Given the description of an element on the screen output the (x, y) to click on. 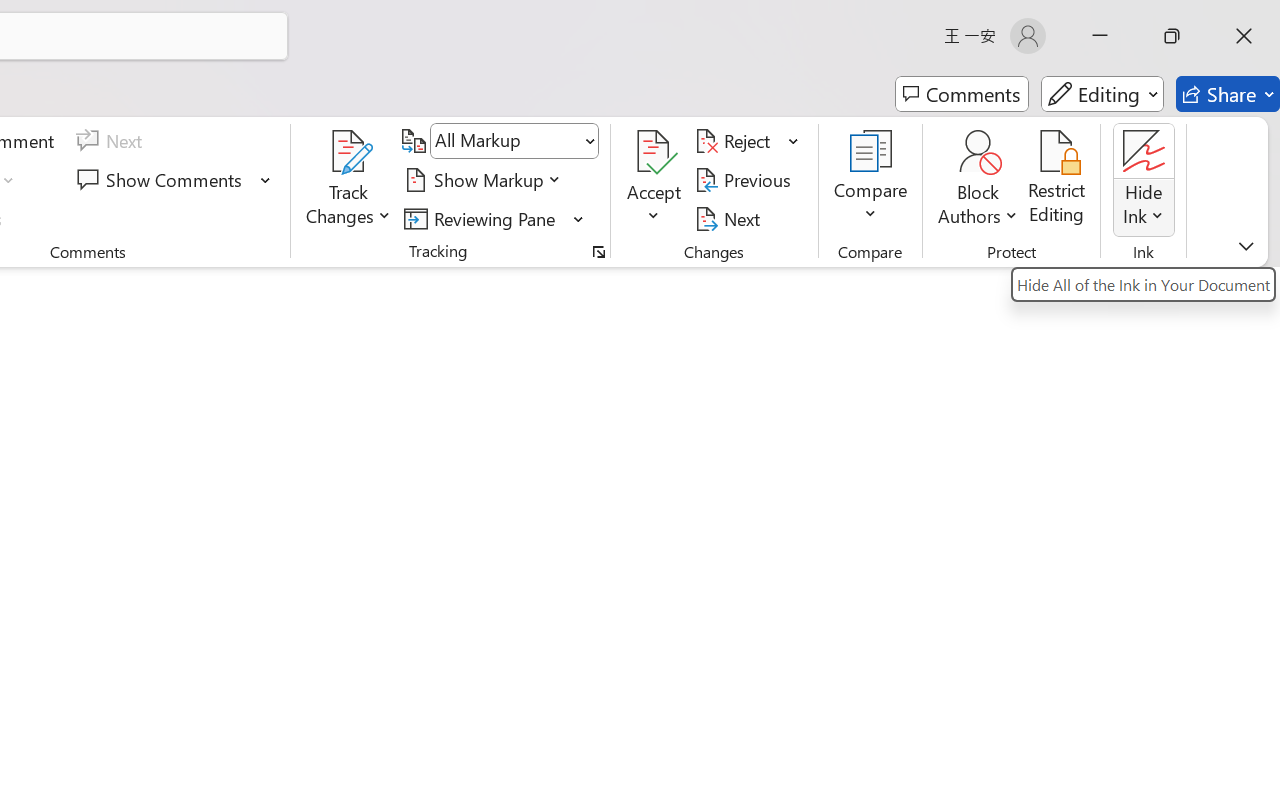
Change Tracking Options... (598, 252)
Editing (1101, 94)
